Given the description of an element on the screen output the (x, y) to click on. 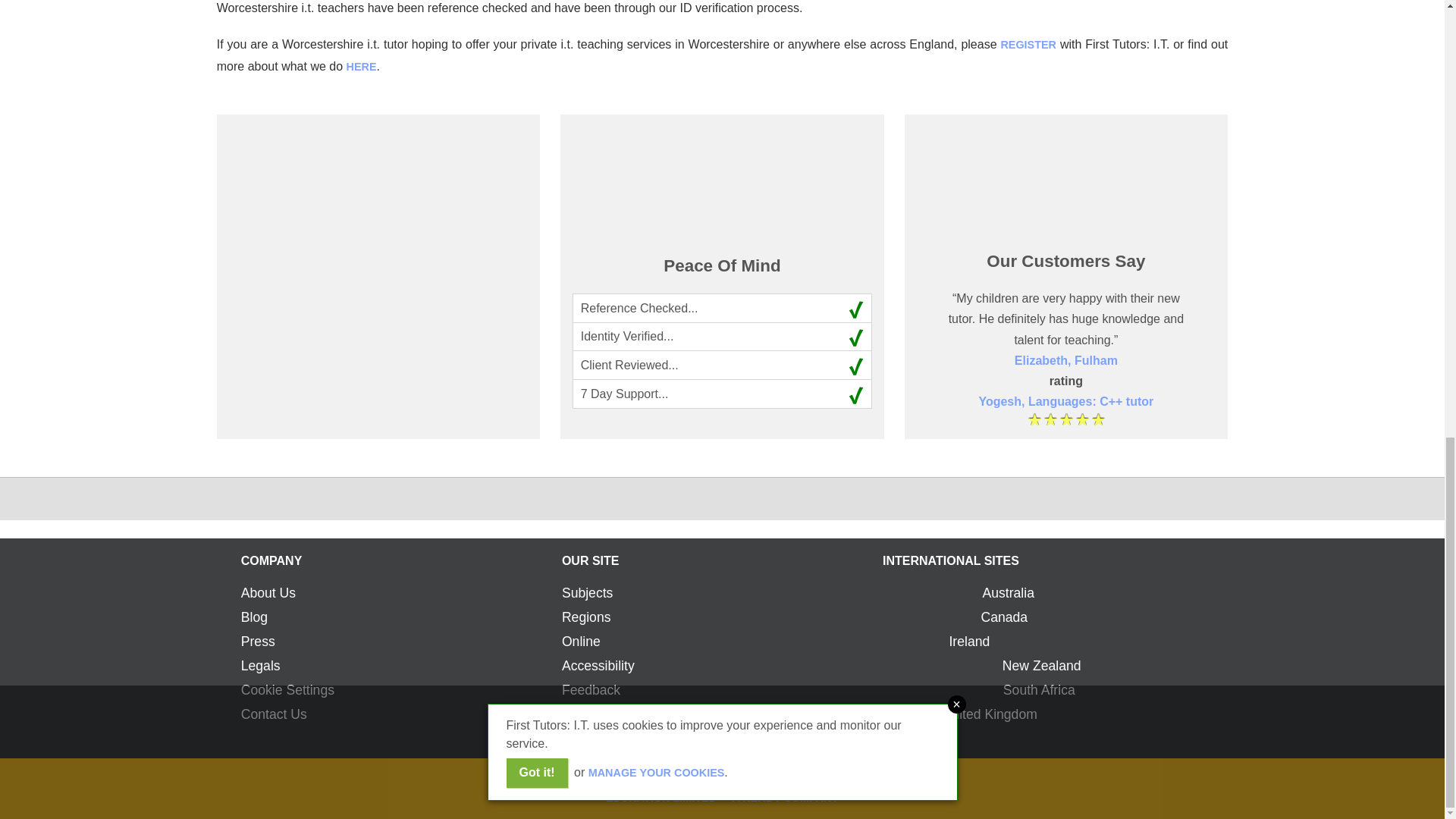
REGISTER (1028, 44)
About Us (268, 592)
HERE (361, 66)
